Given the description of an element on the screen output the (x, y) to click on. 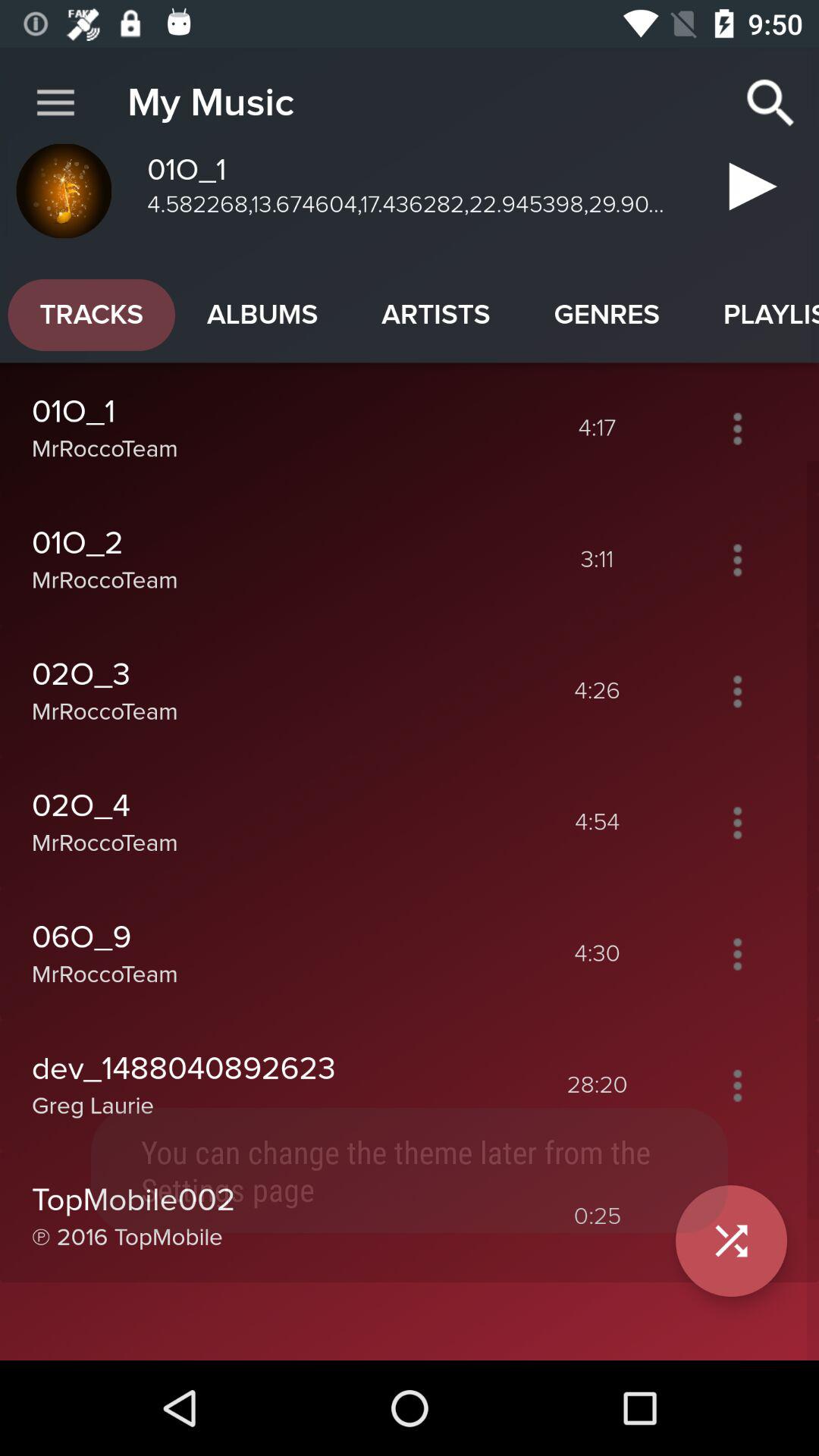
open options (737, 822)
